Given the description of an element on the screen output the (x, y) to click on. 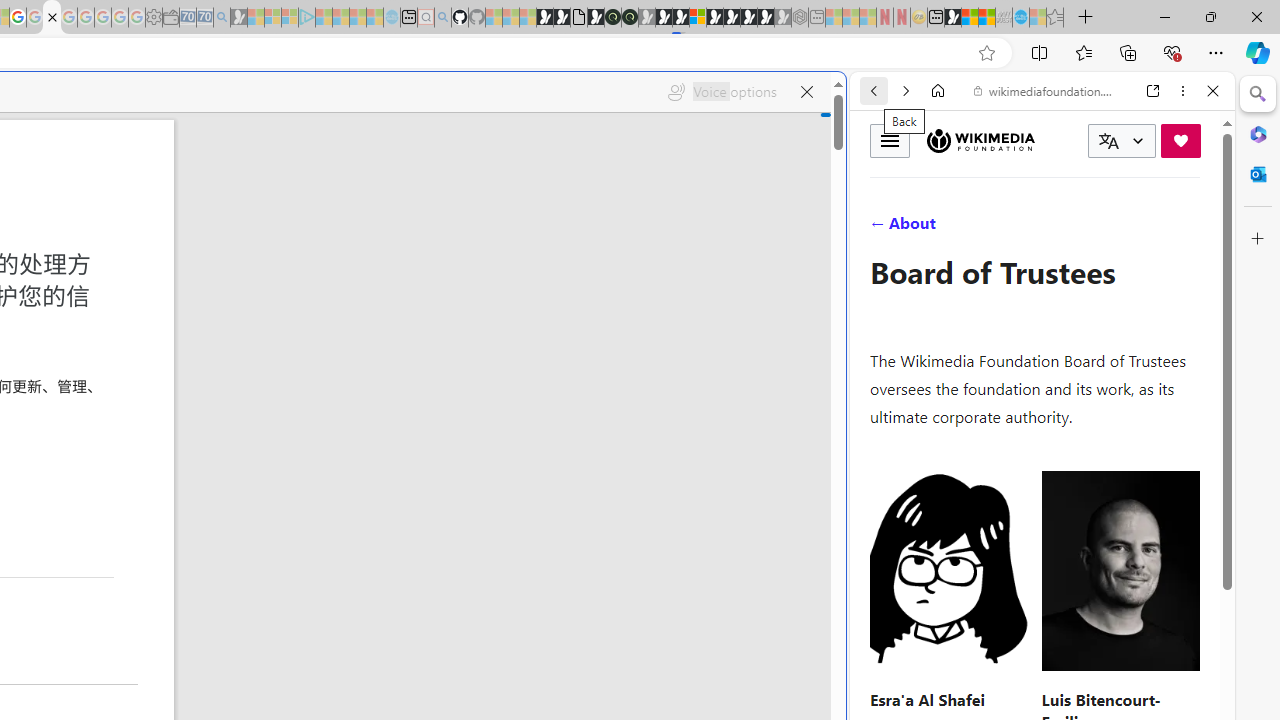
CURRENT LANGUAGE: (1121, 141)
Close split screen (844, 102)
Future Focus Report 2024 (629, 17)
Tabs you've opened (276, 265)
